Given the description of an element on the screen output the (x, y) to click on. 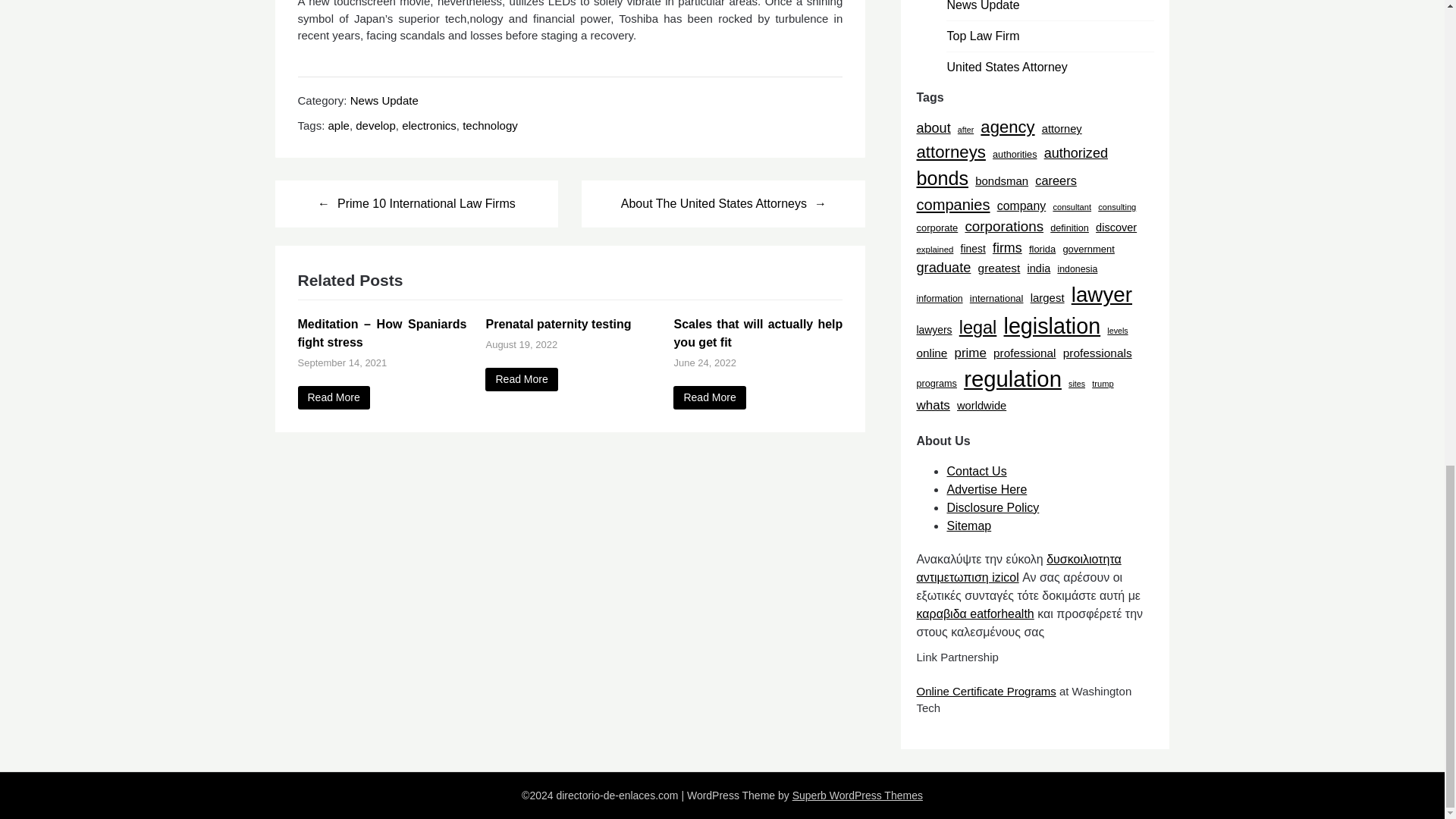
Prime 10 International Law Firms (416, 202)
aple (339, 124)
News Update (384, 100)
Scales that will actually help you get fit (708, 397)
electronics (429, 124)
develop (375, 124)
technology (490, 124)
Prenatal paternity testing (520, 379)
